Given the description of an element on the screen output the (x, y) to click on. 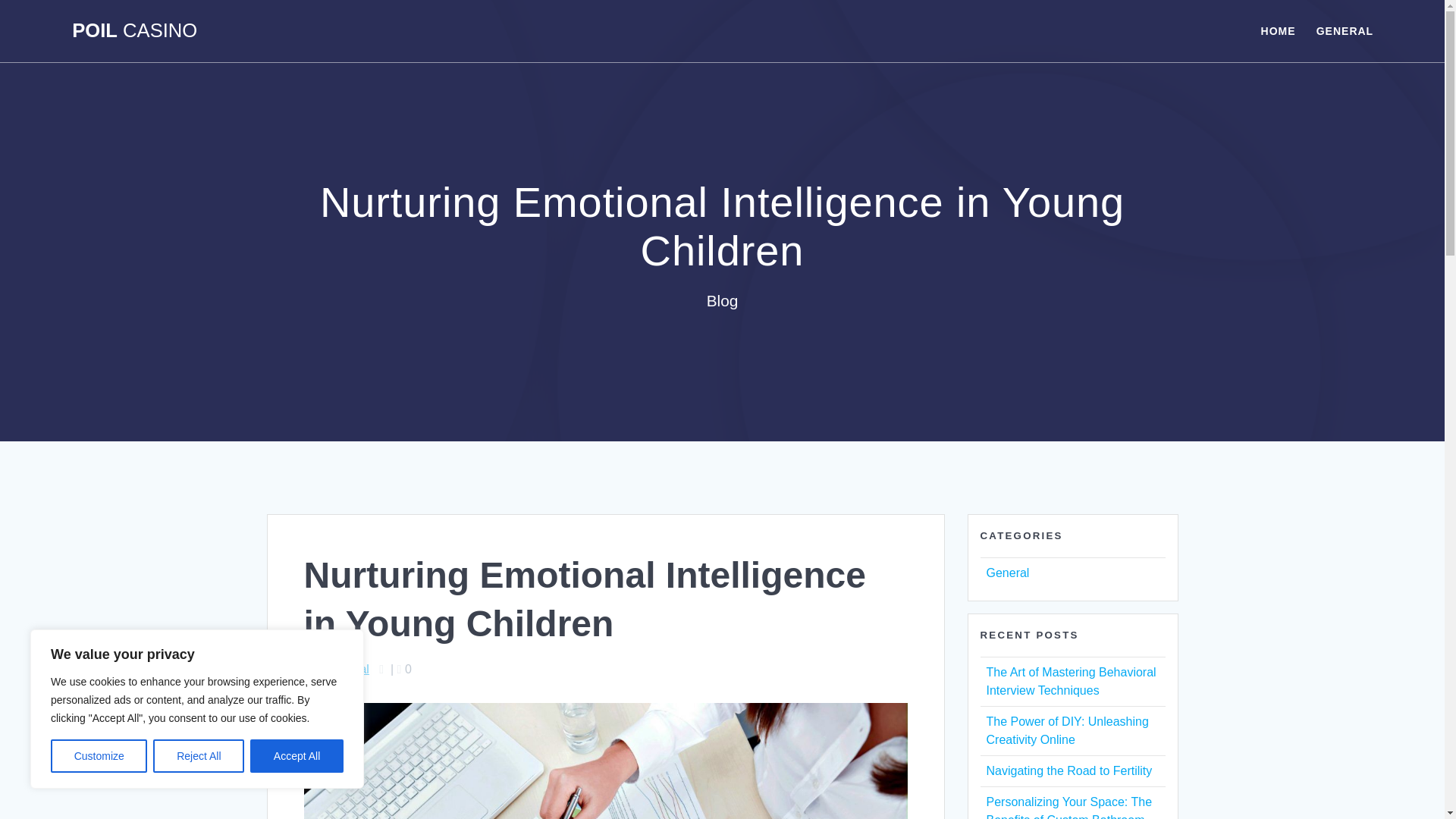
The Art of Mastering Behavioral Interview Techniques (1070, 680)
HOME (1277, 30)
Accept All (296, 756)
GENERAL (1344, 30)
Navigating the Road to Fertility (1068, 770)
General (347, 668)
Customize (98, 756)
General (1007, 572)
Reject All (198, 756)
